Given the description of an element on the screen output the (x, y) to click on. 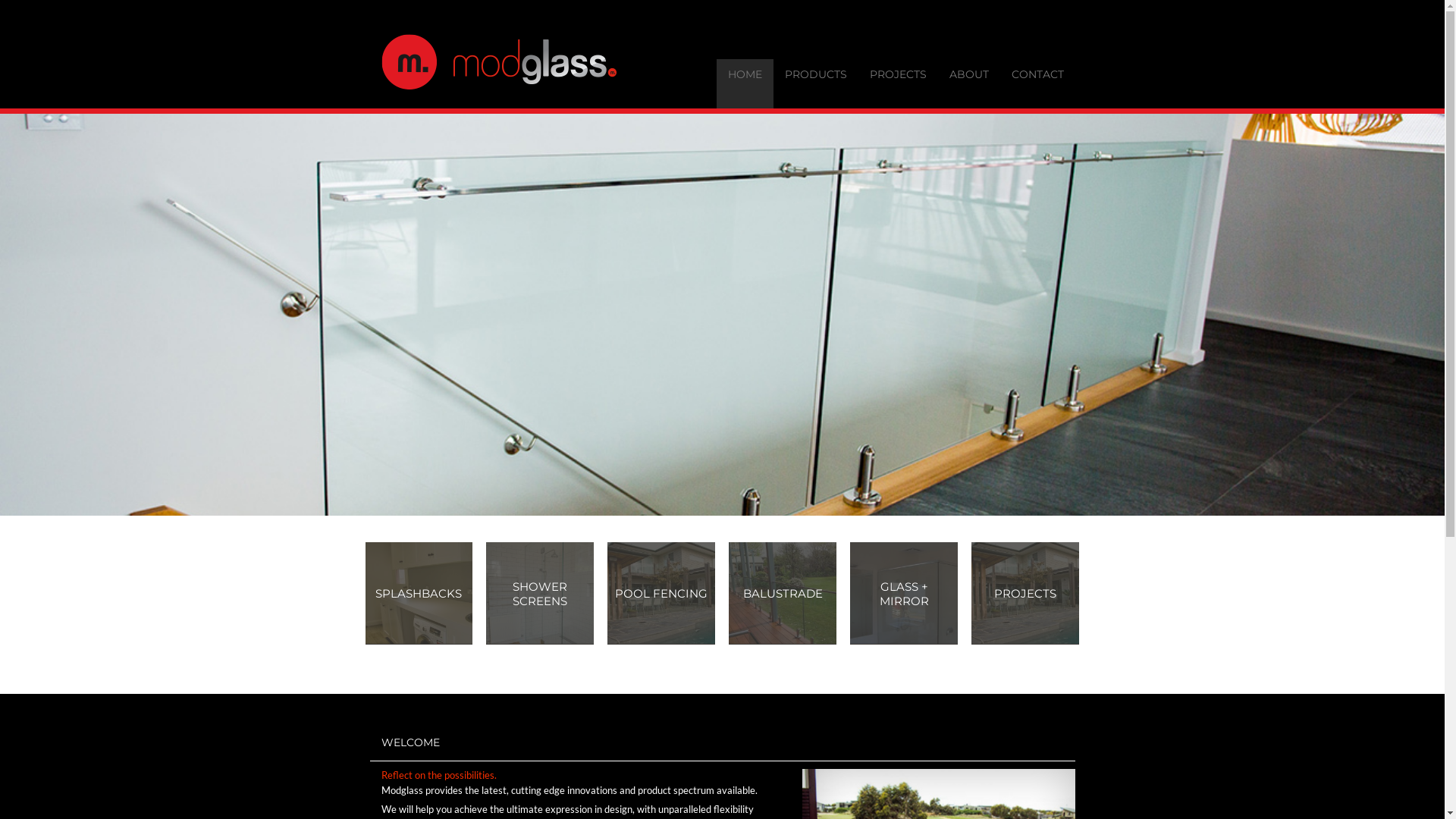
Glass + Mirror Element type: hover (925, 592)
GLASS + MIRROR Element type: text (903, 593)
PROJECTS Element type: text (898, 83)
BALUSTRADE Element type: text (782, 593)
Projects Element type: hover (1046, 592)
ABOUT Element type: text (968, 83)
Shower Screens Element type: hover (561, 592)
Pool Fencing Element type: hover (682, 592)
Balustrade Element type: hover (803, 592)
HOME Element type: text (743, 83)
PRODUCTS Element type: text (815, 83)
CONTACT Element type: text (1036, 83)
Splashbacks Element type: hover (439, 592)
SPLASHBACKS Element type: text (419, 593)
SHOWER SCREENS Element type: text (539, 593)
POOL FENCING Element type: text (661, 593)
PROJECTS Element type: text (1025, 593)
